Given the description of an element on the screen output the (x, y) to click on. 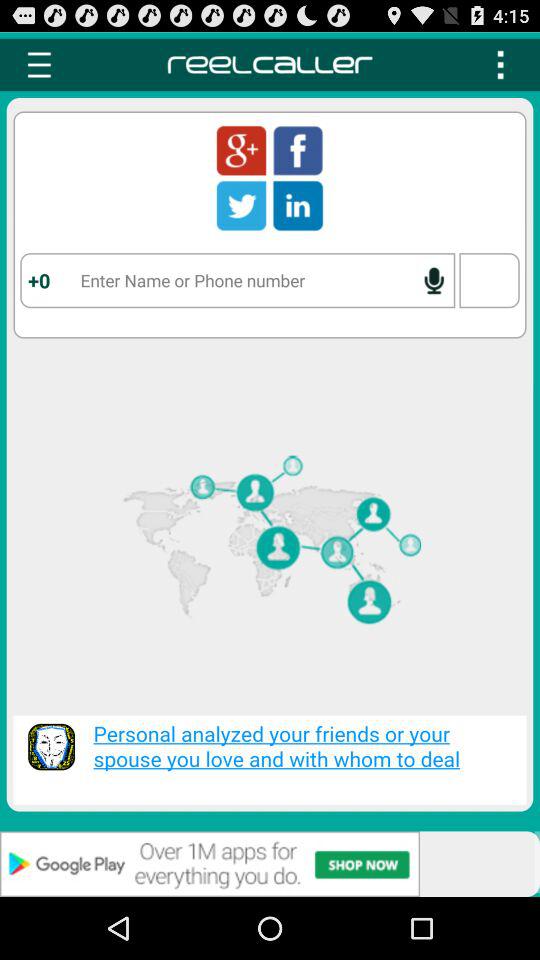
google play advertisement (270, 864)
